Given the description of an element on the screen output the (x, y) to click on. 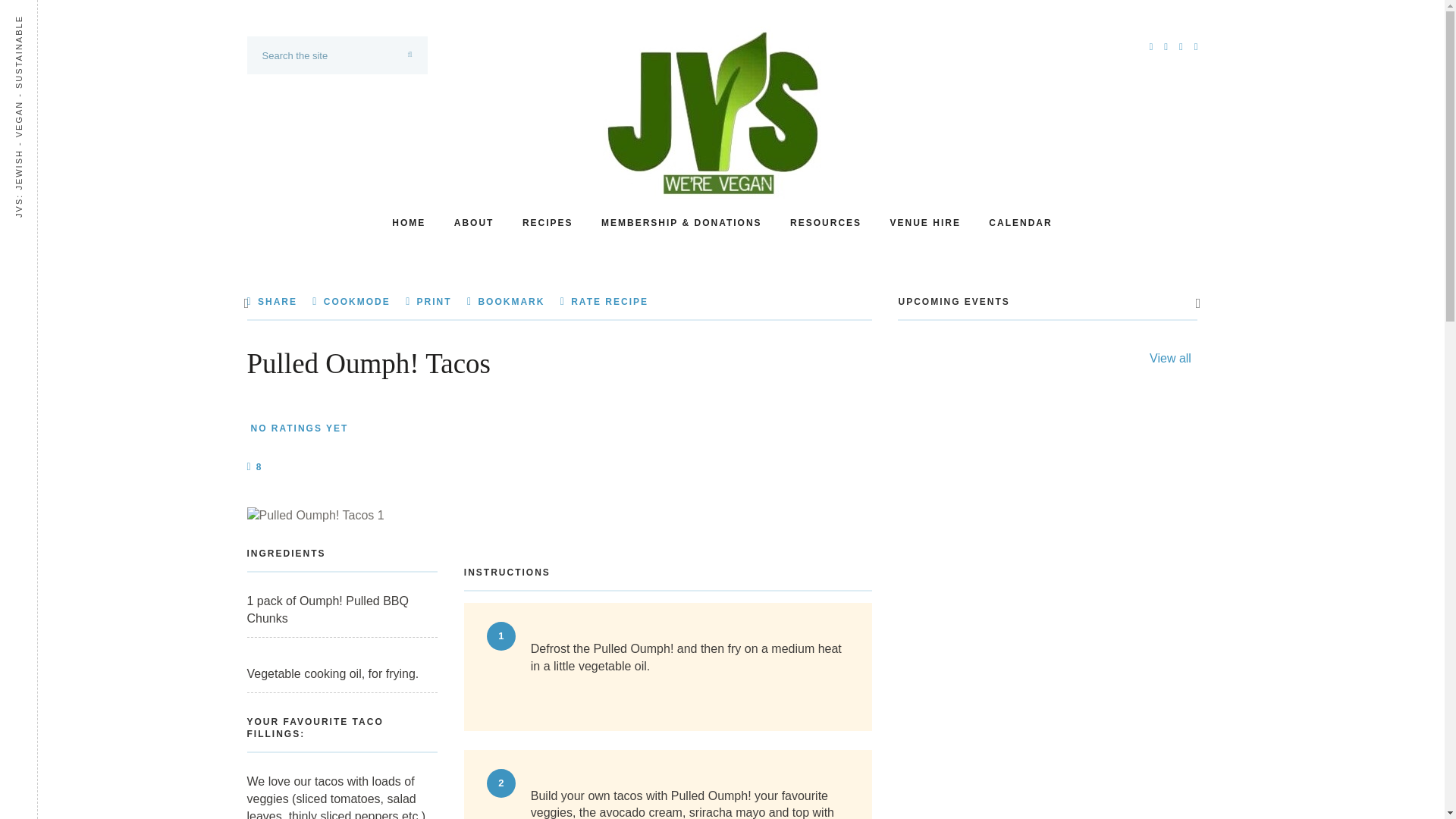
RESOURCES (825, 222)
ABOUT (474, 222)
RECIPES (547, 222)
HOME (408, 222)
